Given the description of an element on the screen output the (x, y) to click on. 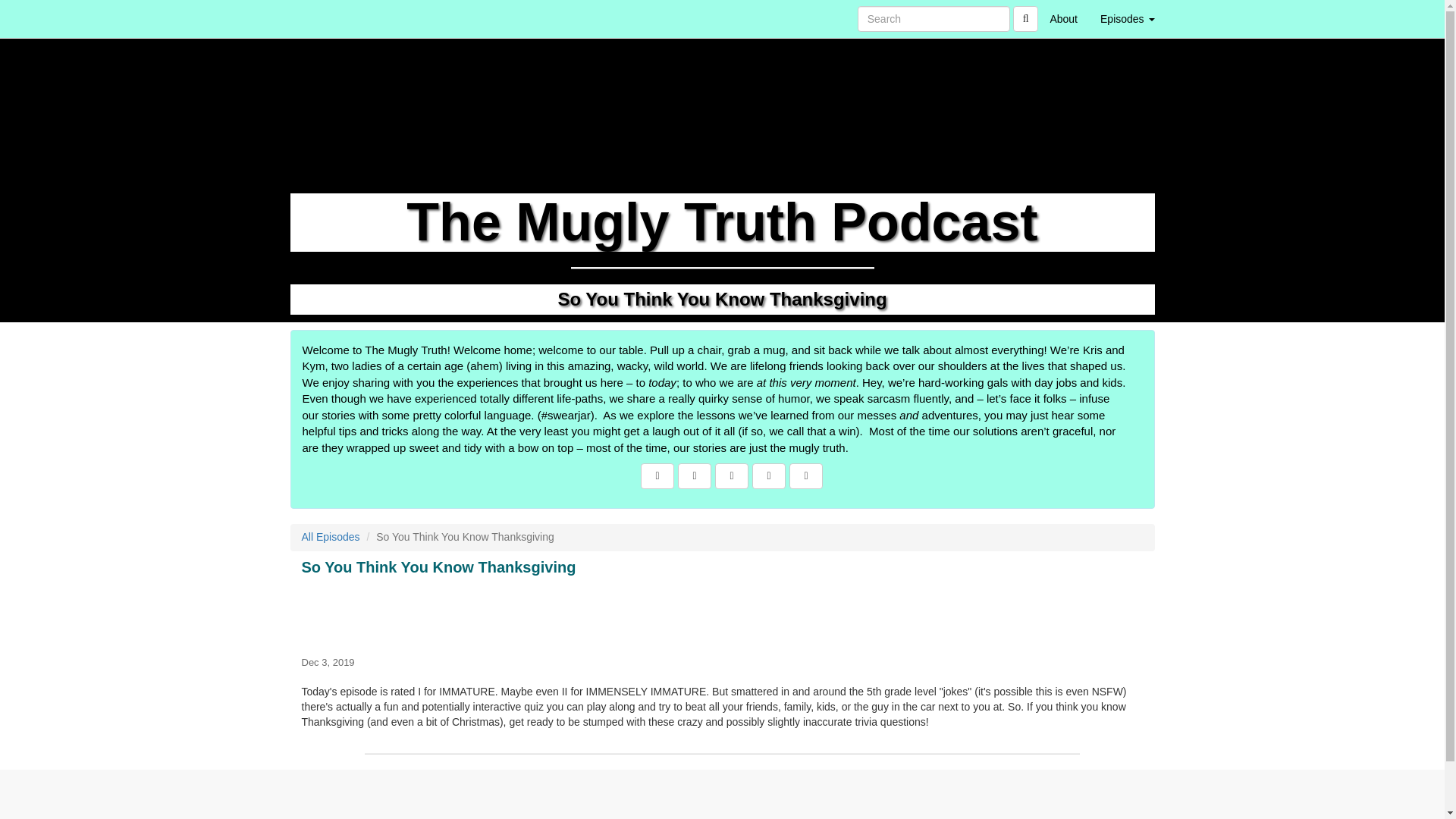
So You Think You Know Thanksgiving (721, 613)
About (1063, 18)
Subscribe to RSS Feed (731, 475)
Listen on Apple Podcasts (769, 475)
Visit Us on Facebook (657, 475)
Episodes (1127, 18)
Home Page (320, 18)
Listen on Spotify (805, 475)
Visit Us on Twitter (694, 475)
